Given the description of an element on the screen output the (x, y) to click on. 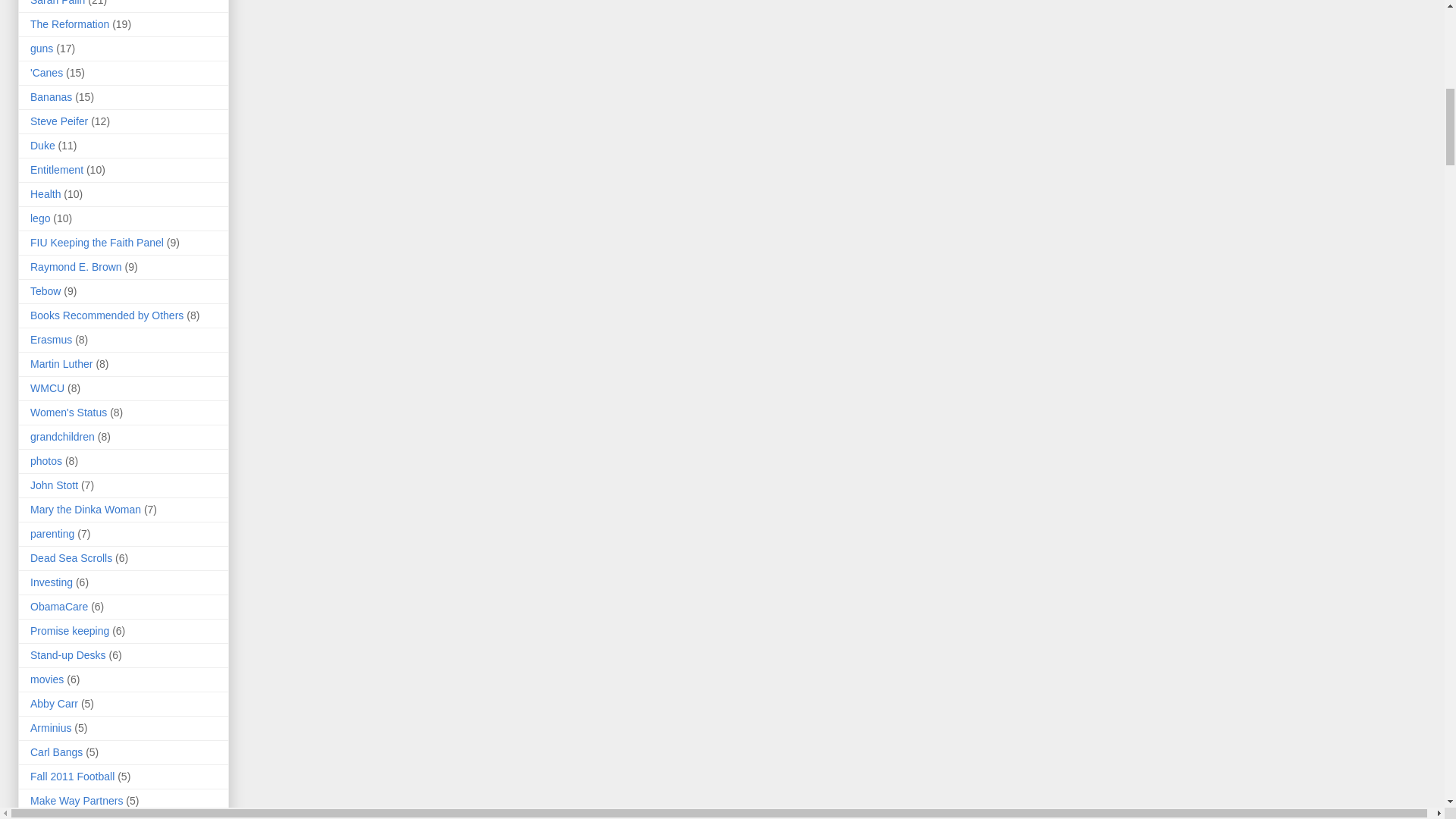
Tebow (45, 291)
FIU Keeping the Faith Panel (96, 242)
Bananas (50, 96)
'Canes (46, 72)
guns (41, 48)
Sarah Palin (57, 2)
The Reformation (69, 24)
Entitlement (56, 169)
grandchildren (62, 436)
Steve Peifer (58, 121)
Duke (42, 145)
lego (39, 218)
Raymond E. Brown (76, 266)
Health (45, 193)
Women's Status (68, 412)
